Given the description of an element on the screen output the (x, y) to click on. 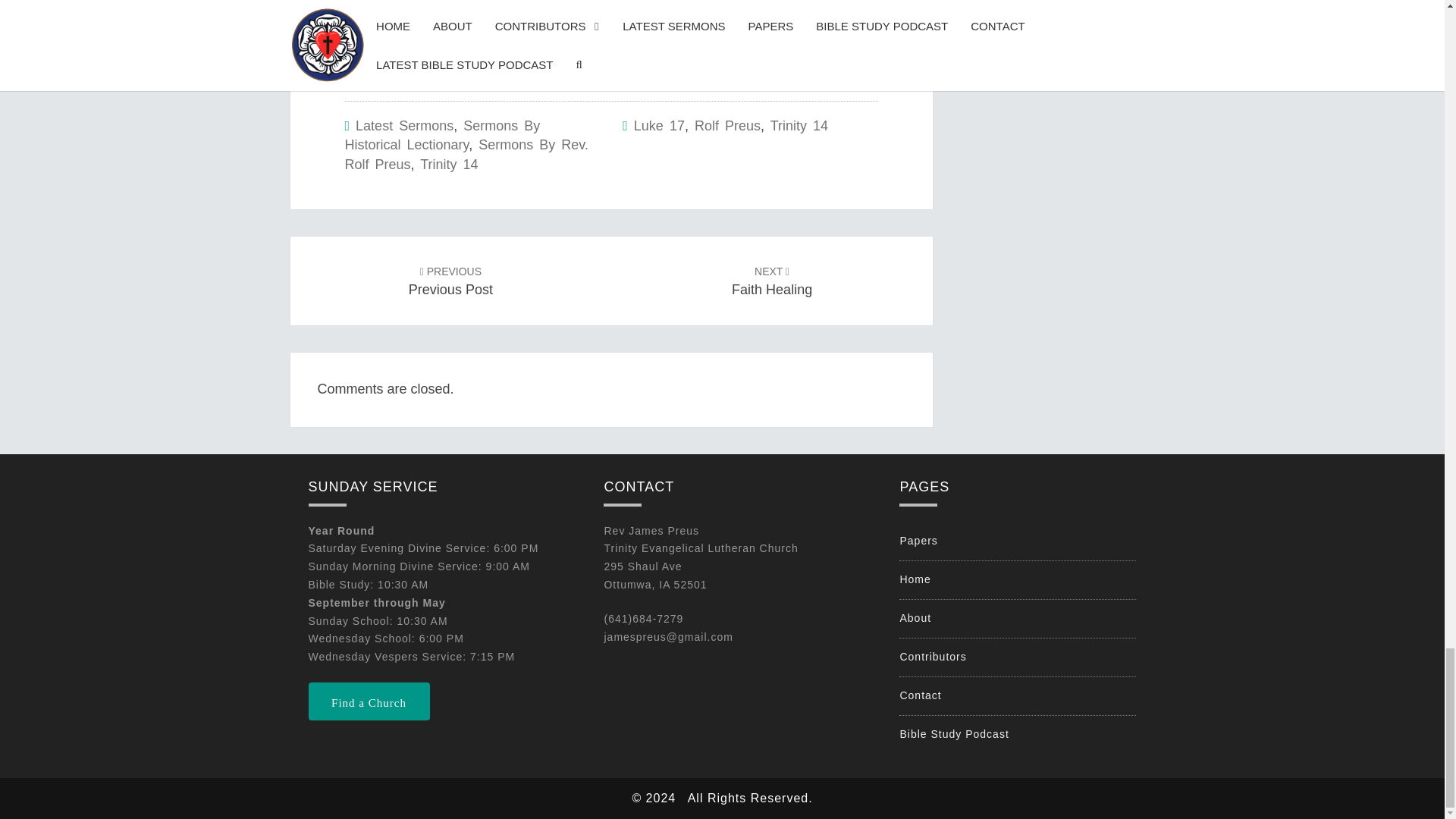
Sermons By Rev. Rolf Preus (465, 154)
Rolf Preus (727, 125)
Trinity 14 (448, 164)
Luke 17 (451, 280)
Latest Sermons (658, 125)
Sermons By Historical Lectionary (403, 125)
Trinity 14 (772, 280)
